Given the description of an element on the screen output the (x, y) to click on. 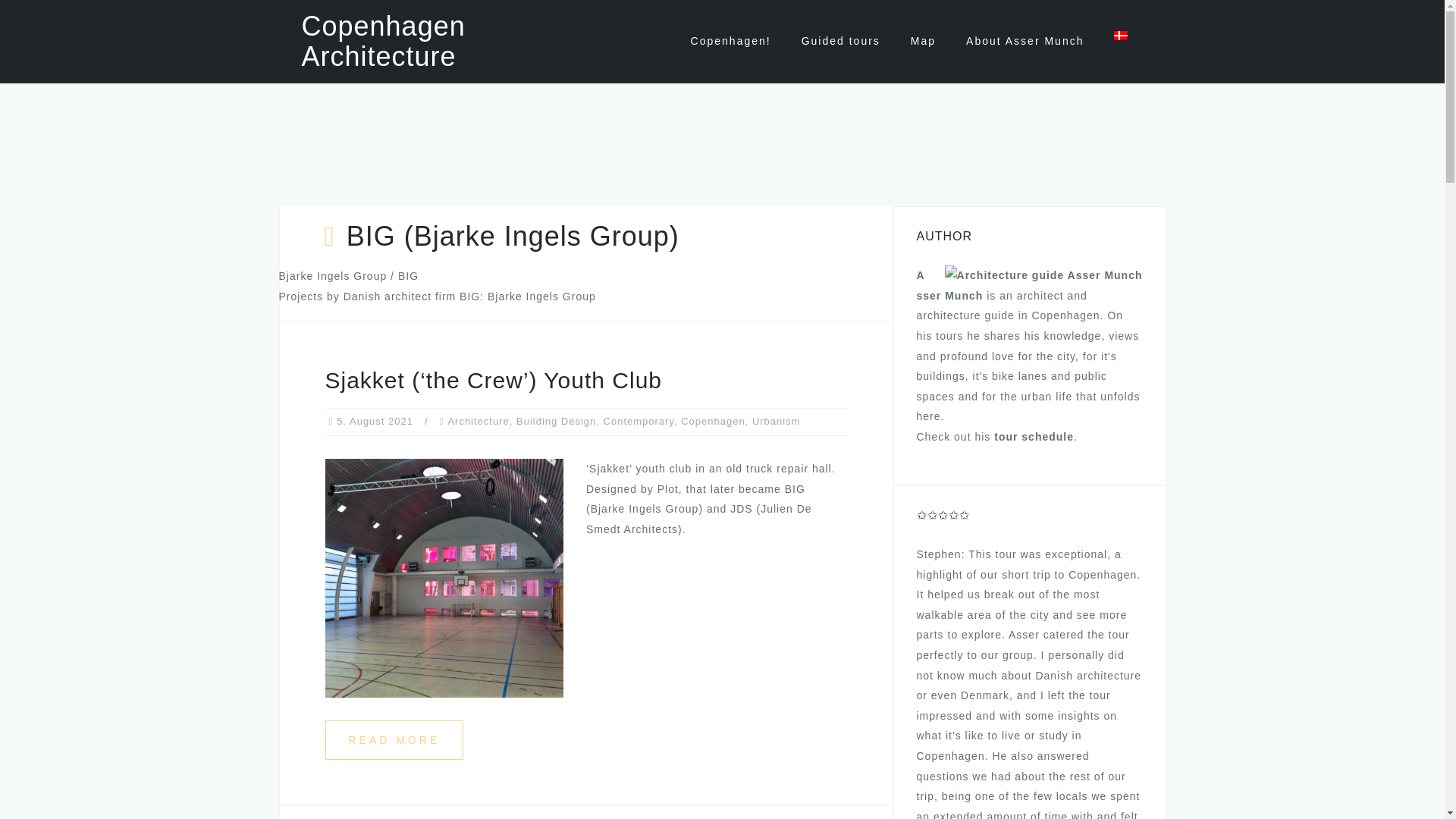
Building Design (555, 420)
Architecture and urbanism in Copenhagen (730, 41)
Guided tours (841, 41)
Copenhagen (712, 420)
Copenhagen Architecture (383, 41)
Map of Copenhagen architecture (923, 41)
Architecture (477, 420)
About Asser Munch (1024, 41)
Local architect Asser Munch (1024, 41)
Contemporary (639, 420)
READ MORE (393, 740)
Map (923, 41)
Urbanism (776, 420)
5. August 2021 (374, 420)
Guided architecture tours in Copenhagen (841, 41)
